Given the description of an element on the screen output the (x, y) to click on. 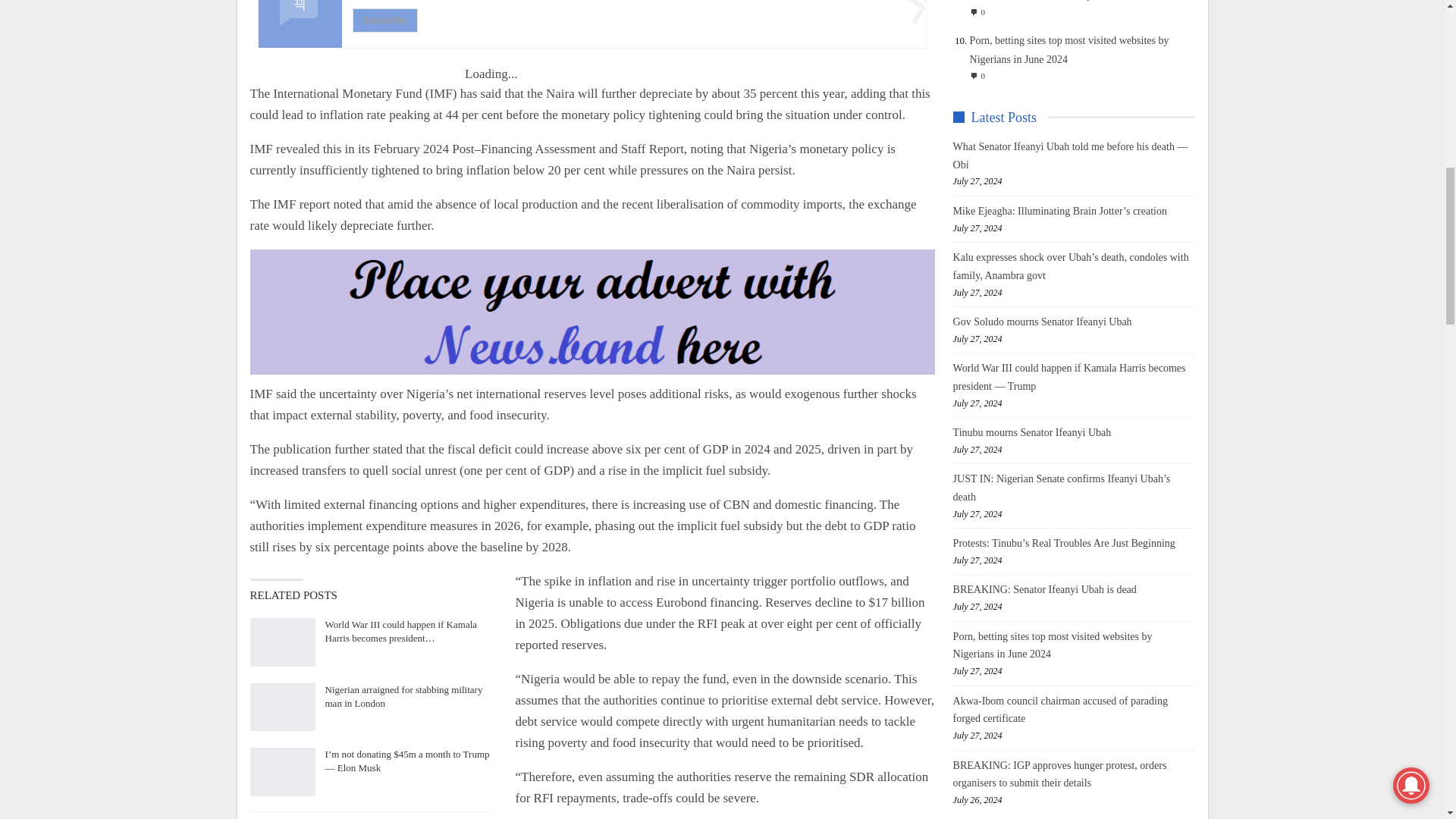
Nigerian arraigned for stabbing military man in London (282, 707)
